Given the description of an element on the screen output the (x, y) to click on. 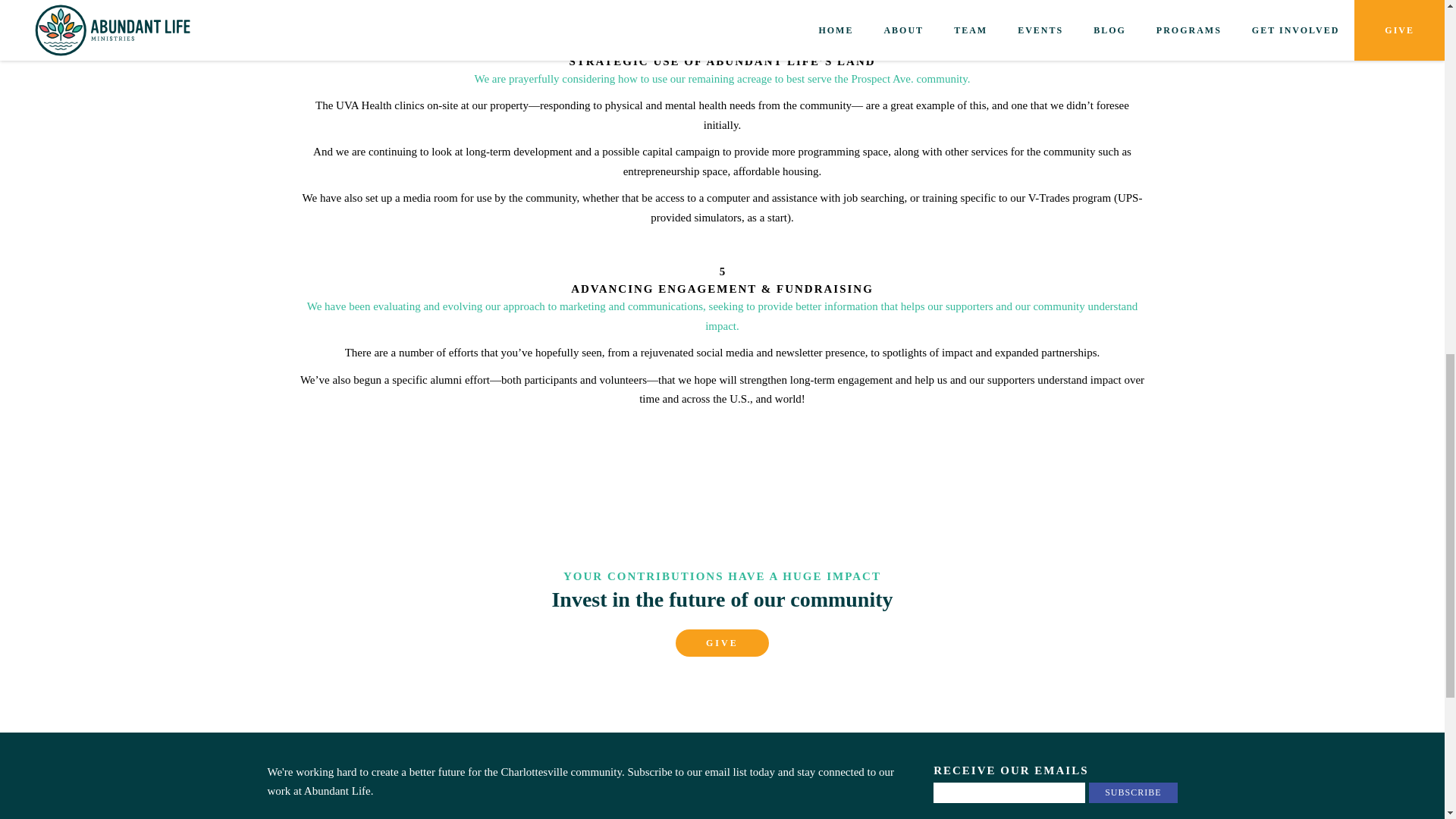
Subscribe (1132, 792)
GIVE (721, 642)
Subscribe (1132, 792)
